Given the description of an element on the screen output the (x, y) to click on. 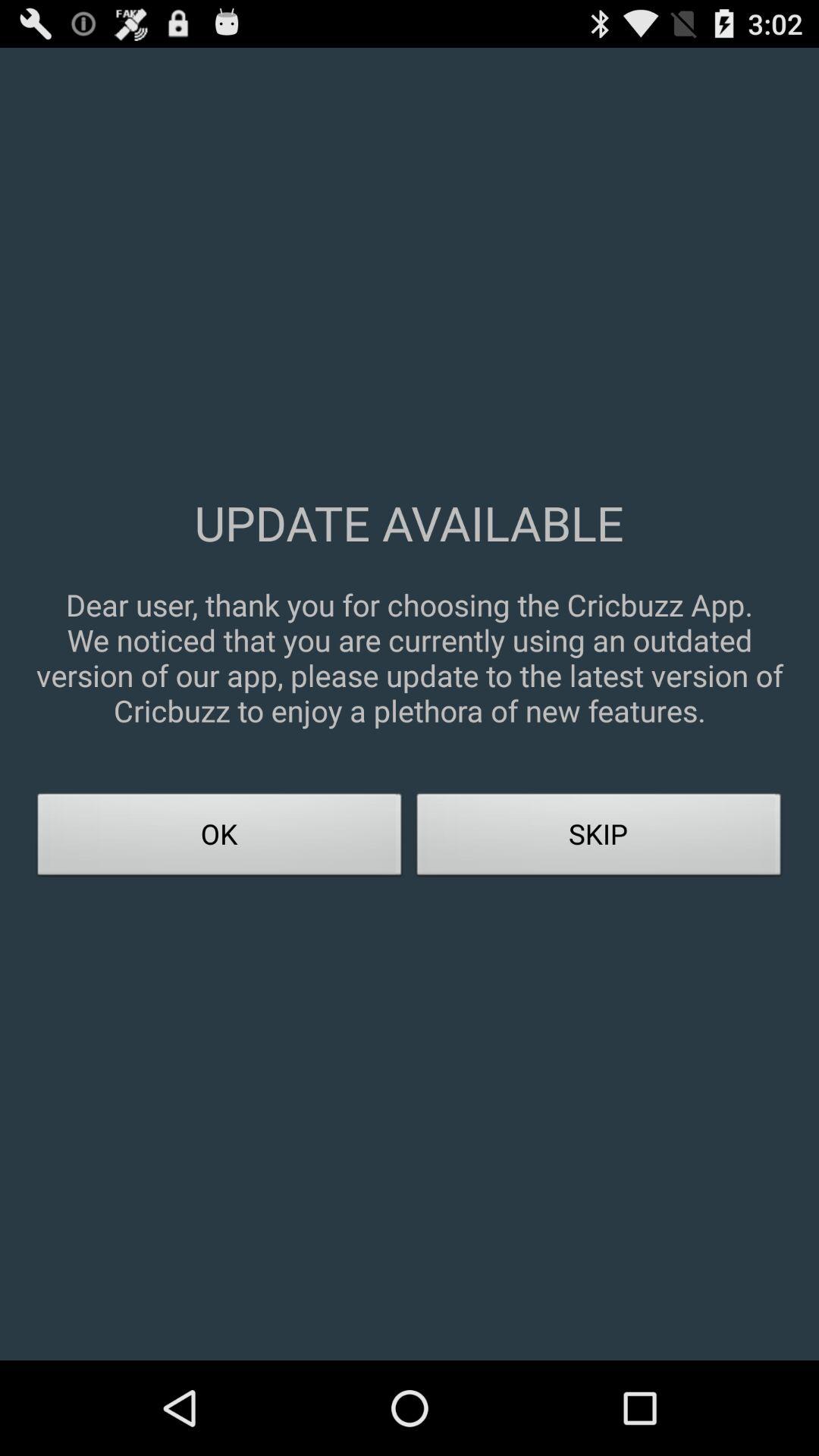
press the icon next to ok (598, 838)
